Given the description of an element on the screen output the (x, y) to click on. 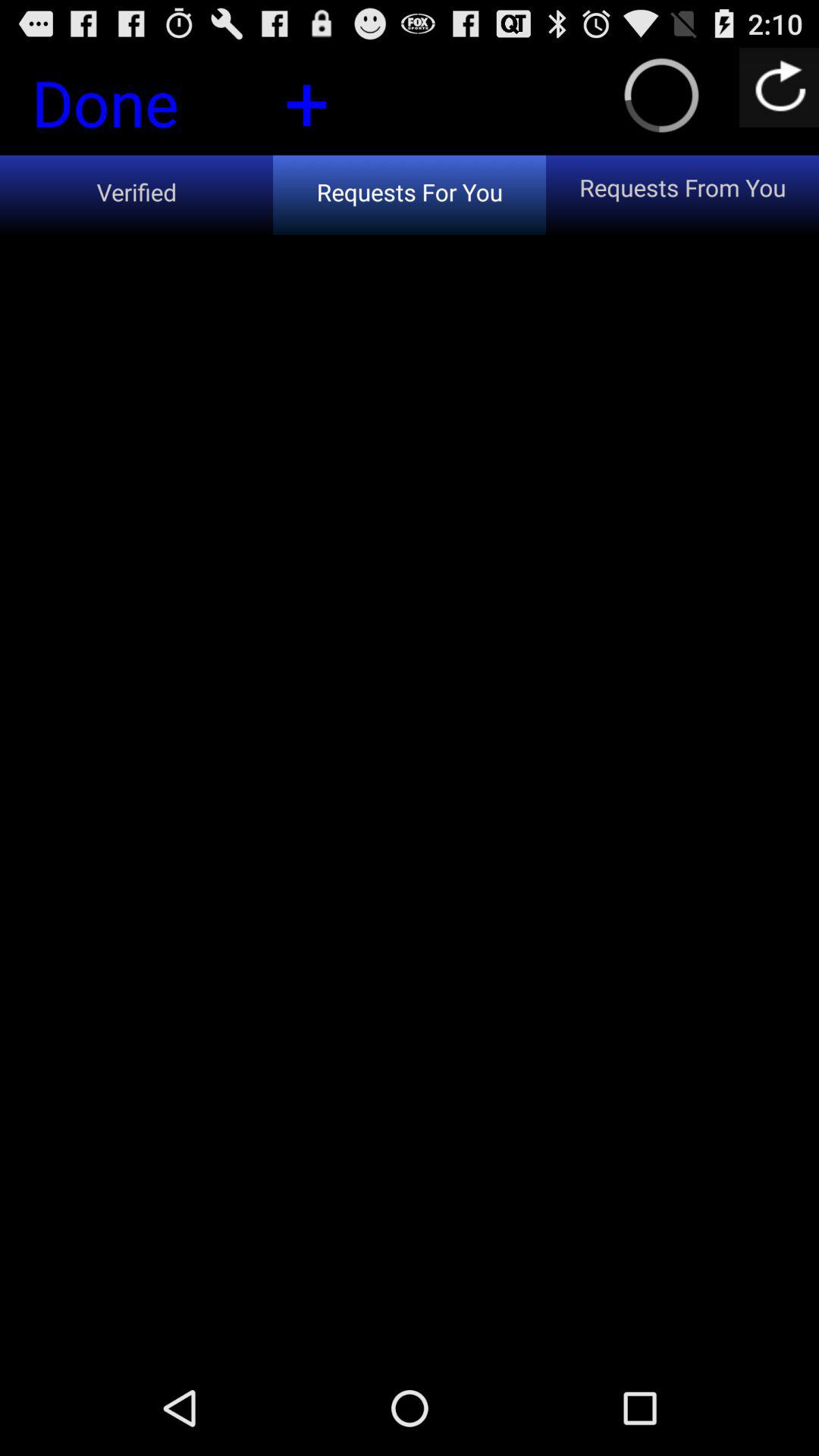
select item below the done icon (136, 194)
